Given the description of an element on the screen output the (x, y) to click on. 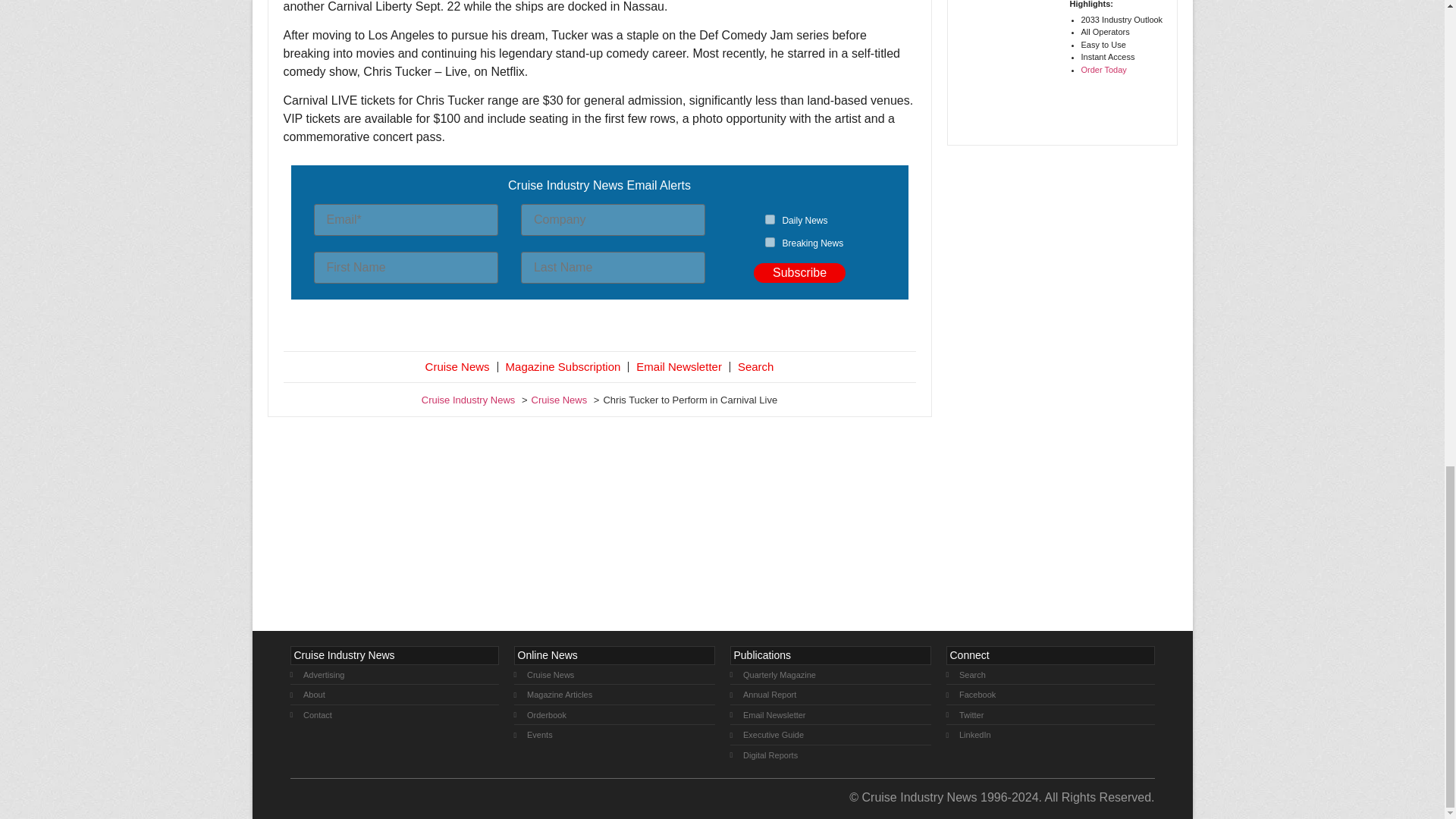
Subscribe (799, 272)
1 (769, 219)
2 (769, 242)
